Given the description of an element on the screen output the (x, y) to click on. 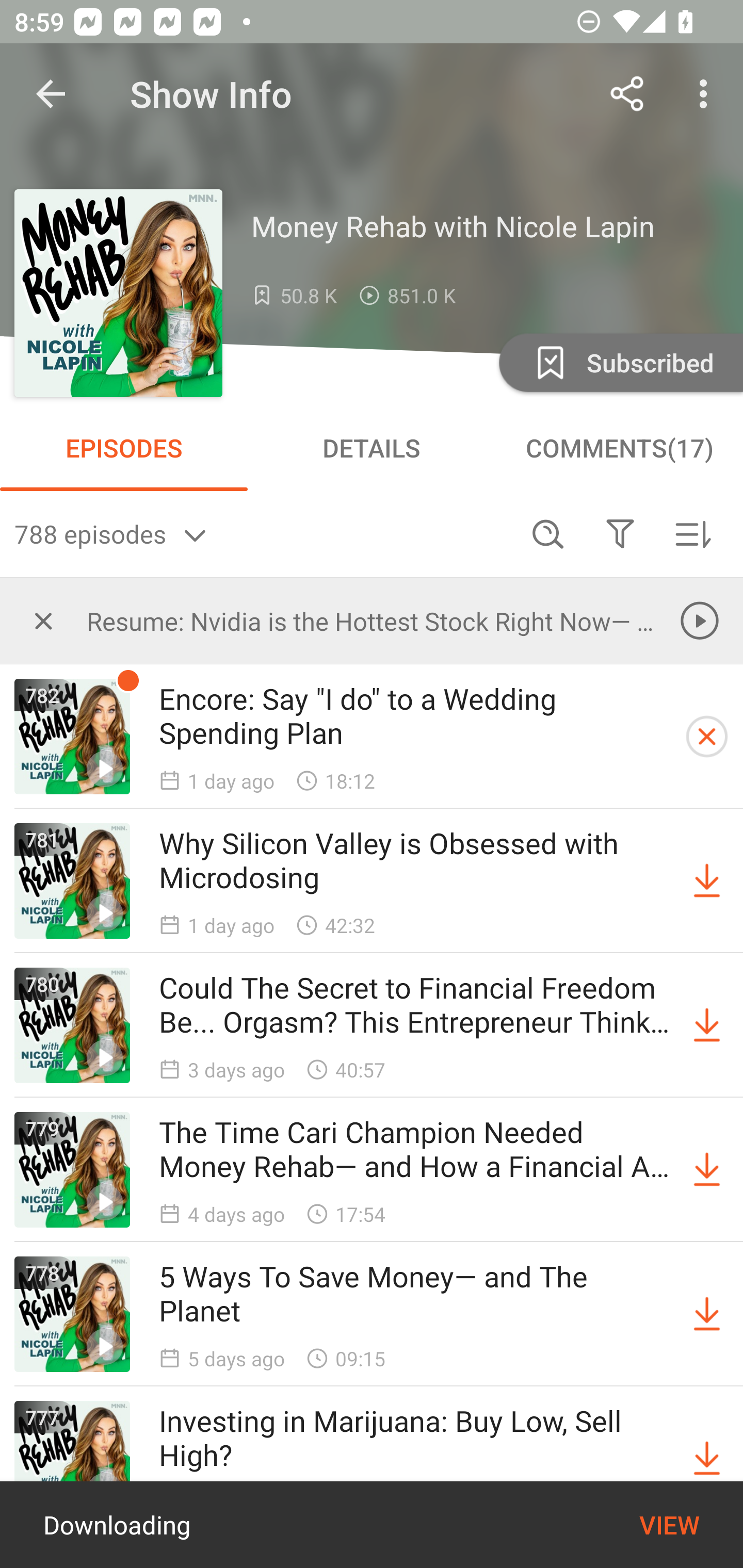
Navigate up (50, 93)
Share (626, 93)
More options (706, 93)
Unsubscribe Subscribed (619, 361)
EPISODES (123, 447)
DETAILS (371, 447)
COMMENTS(17) (619, 447)
788 episodes  (262, 533)
 Search (547, 533)
 (619, 533)
 Sorted by newest first (692, 533)
 (43, 620)
Cancel Downloading (706, 736)
Download (706, 881)
Download (706, 1025)
Download (706, 1169)
Download (706, 1313)
Download (706, 1458)
Downloading VIEW (371, 1524)
VIEW (669, 1524)
